Given the description of an element on the screen output the (x, y) to click on. 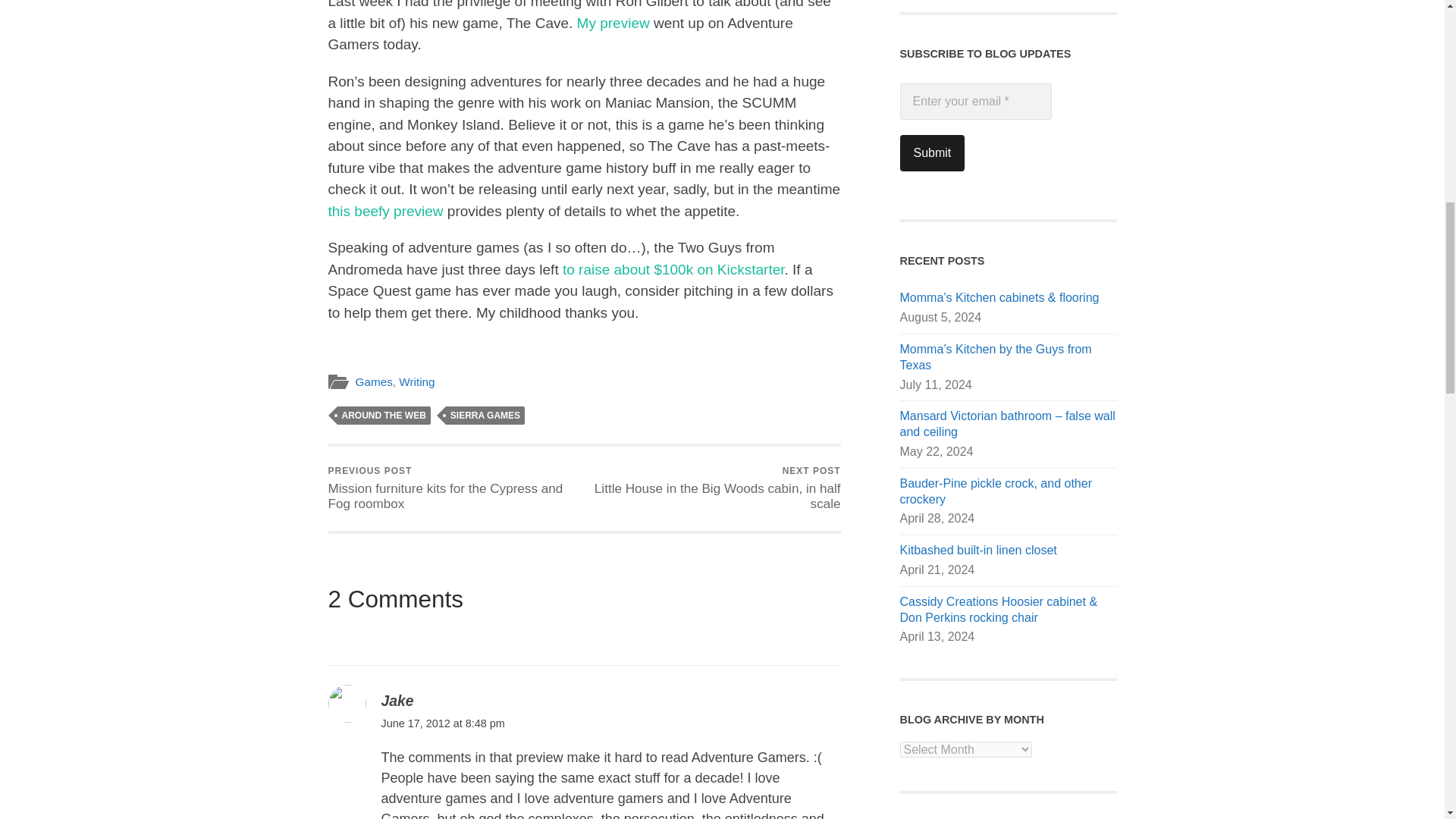
SIERRA GAMES (714, 488)
this beefy preview (484, 415)
AROUND THE WEB (384, 211)
Enter your email (382, 415)
Jake (975, 101)
Submit (396, 700)
June 17, 2012 at 8:48 pm (931, 153)
Writing (441, 723)
Games (415, 381)
